Given the description of an element on the screen output the (x, y) to click on. 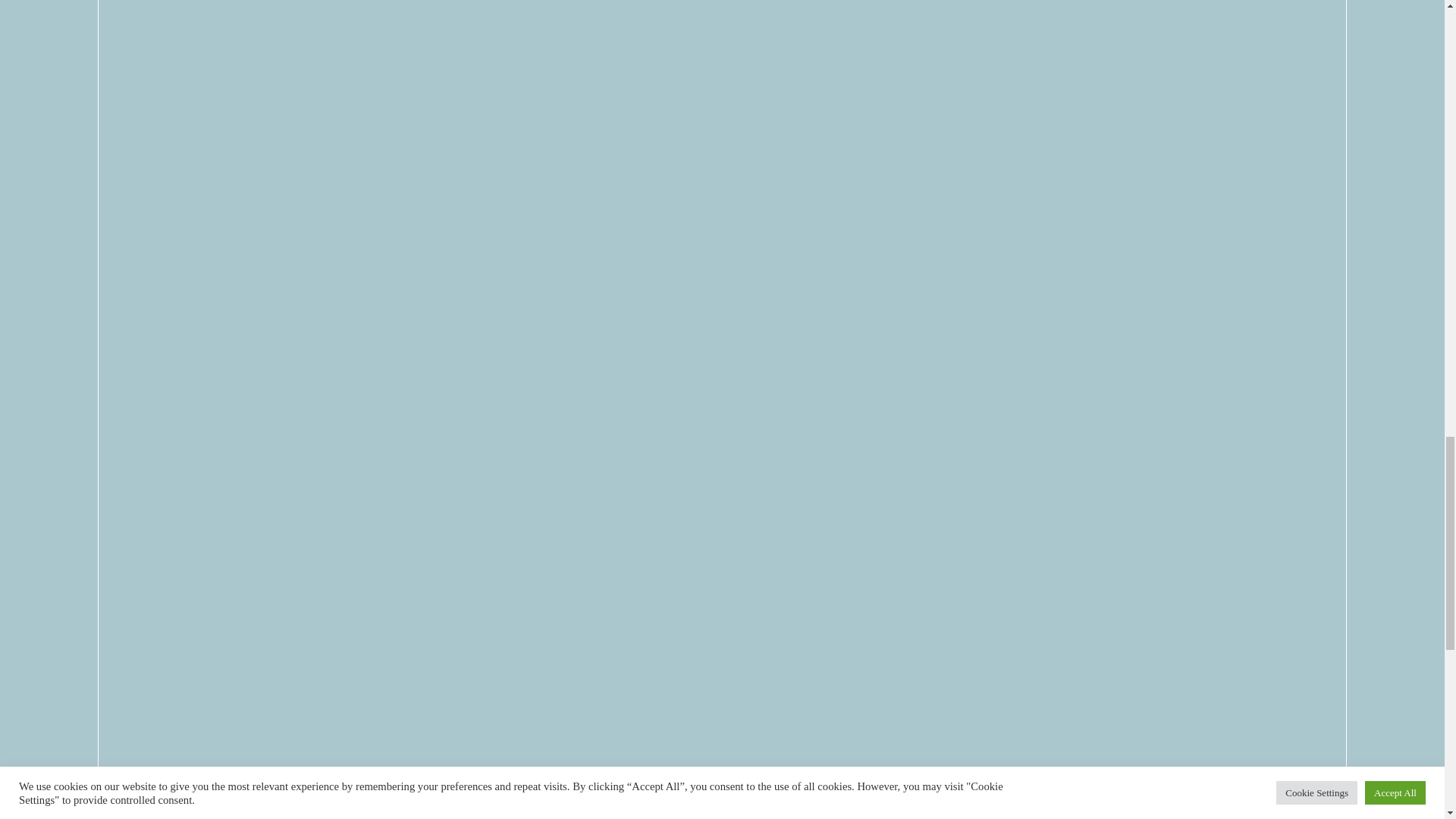
Spotify Embed: I Wanna Be Famous (722, 28)
